Given the description of an element on the screen output the (x, y) to click on. 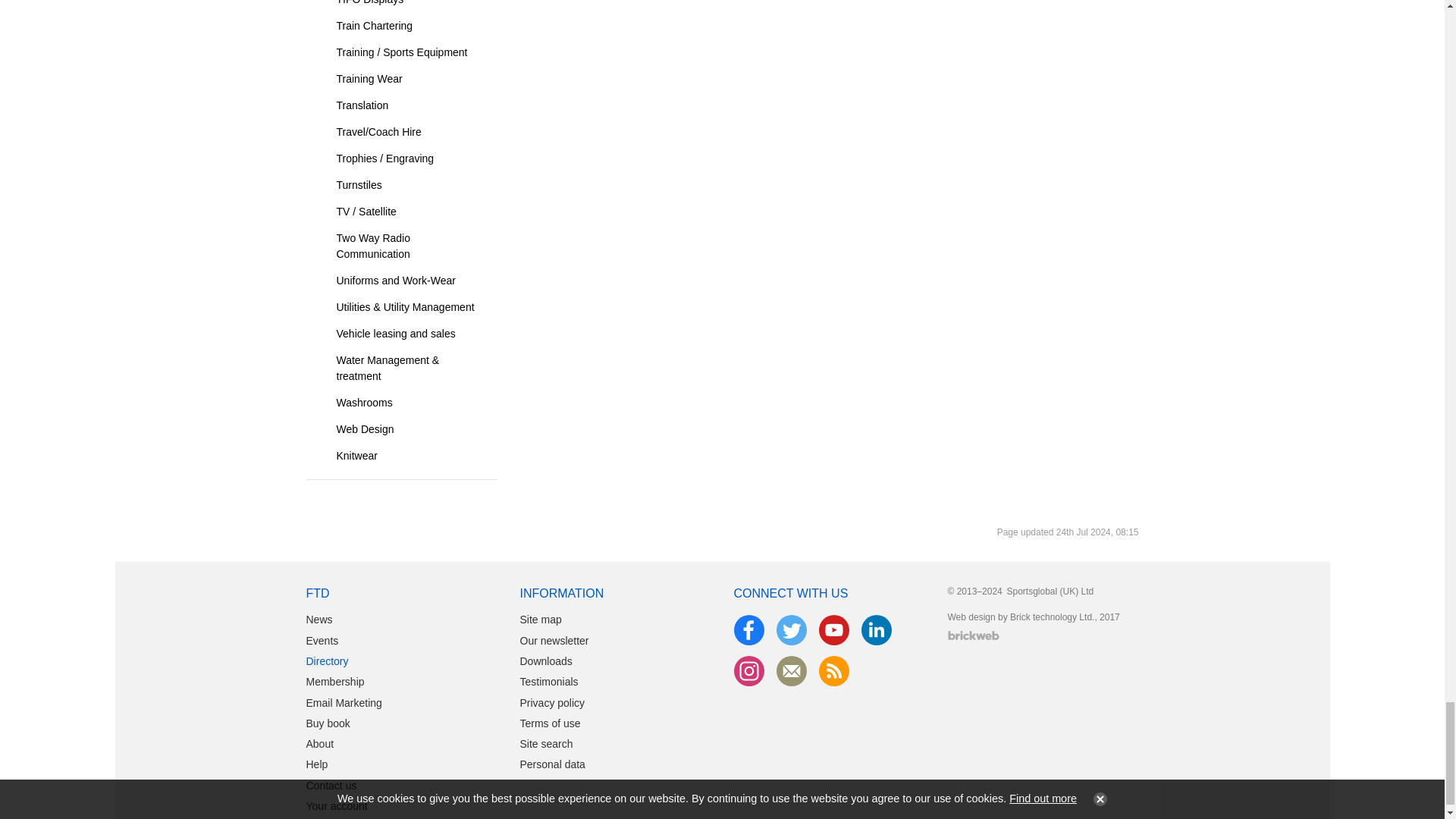
LinkedIn (877, 630)
Website designed and maintained by Brick technology Ltd. (972, 634)
Facebook (749, 630)
Twitter (791, 630)
RSS (834, 671)
Newsletter (791, 671)
YouTube (834, 630)
Instagram (749, 671)
